Given the description of an element on the screen output the (x, y) to click on. 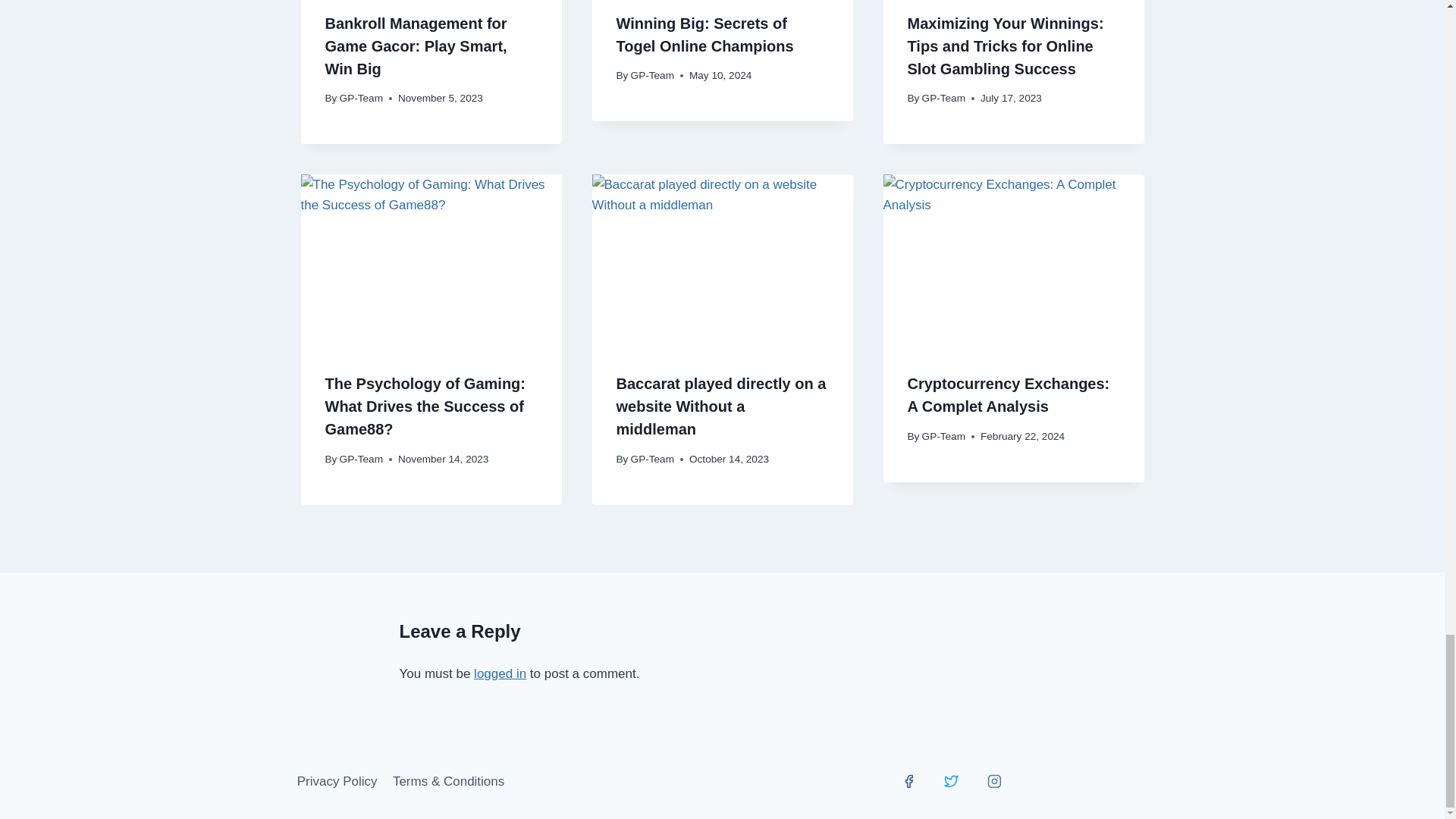
GP-Team (360, 98)
Bankroll Management for Game Gacor: Play Smart, Win Big (415, 45)
Winning Big: Secrets of Togel Online Champions (704, 34)
GP-Team (943, 98)
The Psychology of Gaming: What Drives the Success of Game88? (424, 406)
GP-Team (652, 75)
GP-Team (360, 459)
